Given the description of an element on the screen output the (x, y) to click on. 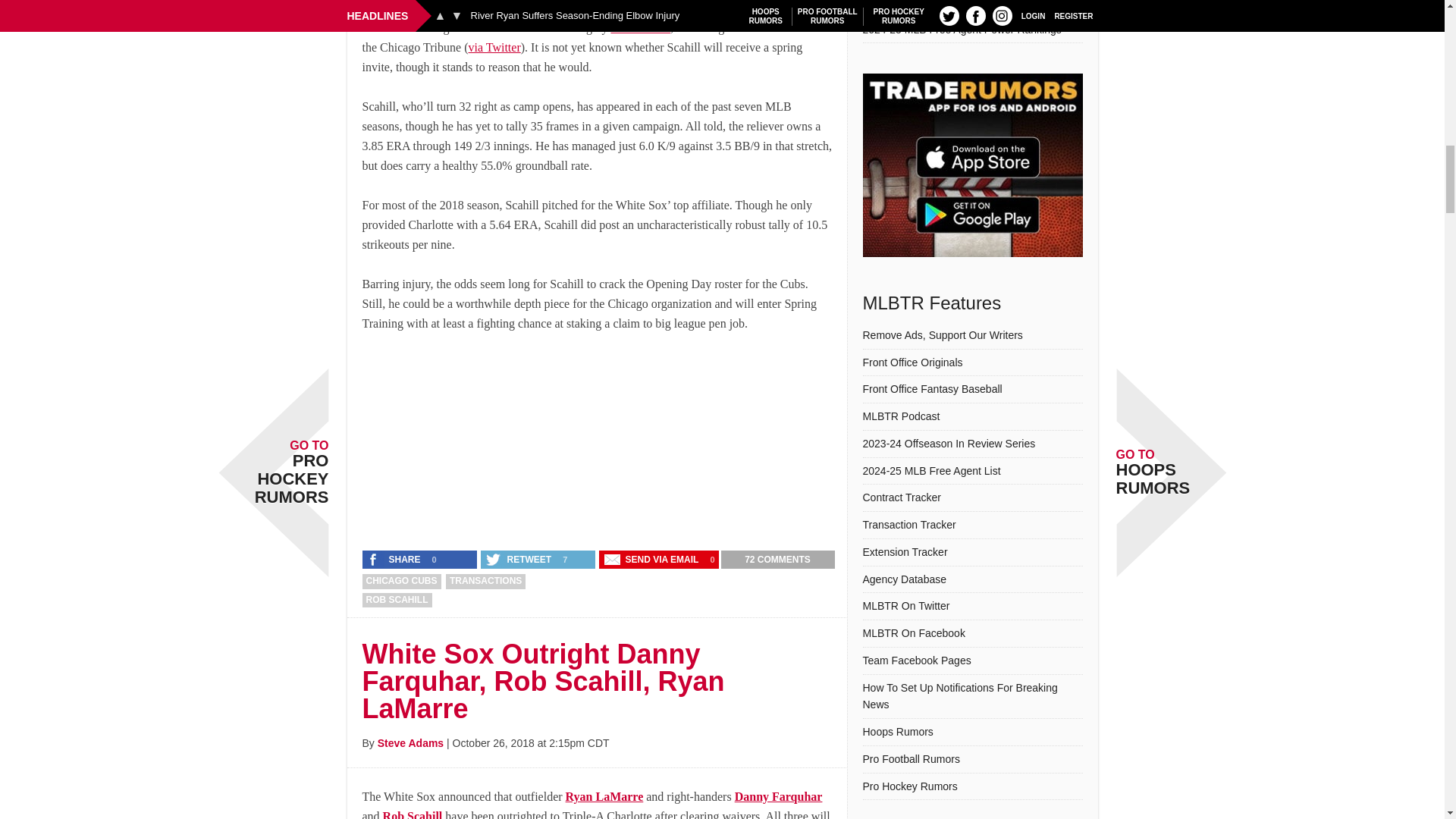
Send Cubs To Sign Rob Scahill with an email (652, 559)
Share 'Cubs To Sign Rob Scahill' on Facebook (395, 559)
Retweet 'Cubs To Sign Rob Scahill' on Twitter (519, 559)
